Given the description of an element on the screen output the (x, y) to click on. 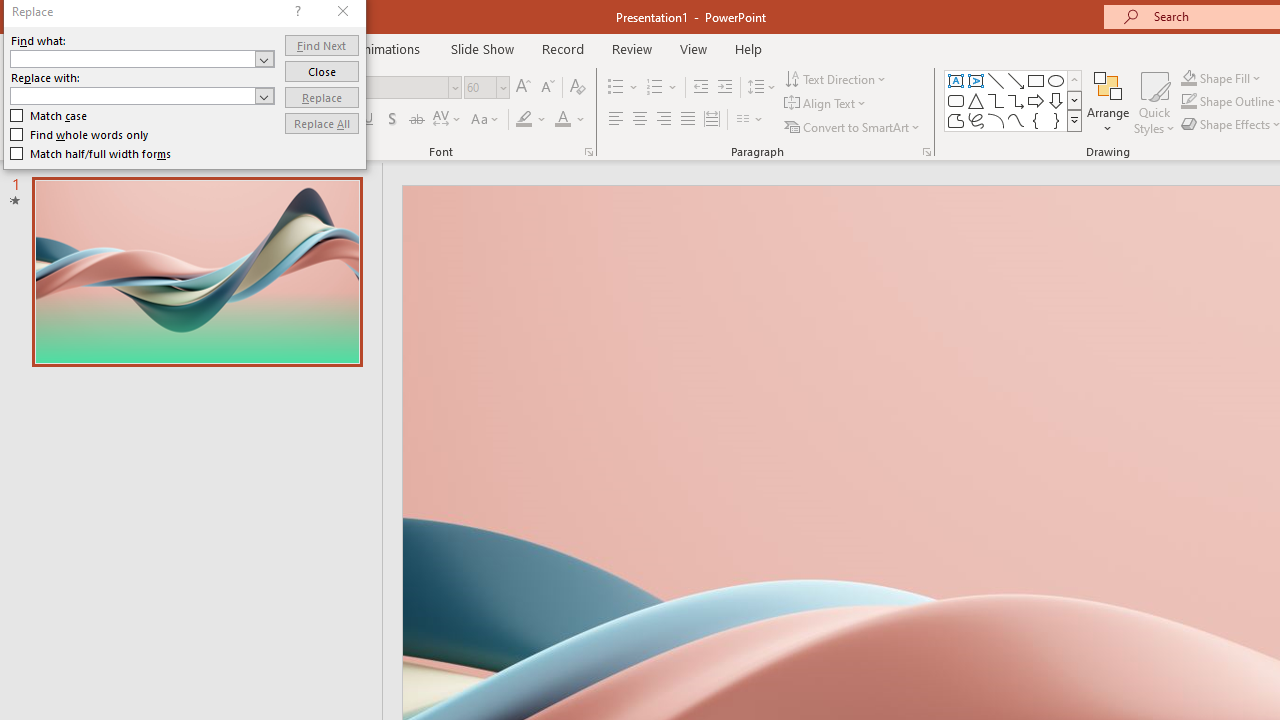
Replace (321, 96)
Replace with (132, 95)
